Given the description of an element on the screen output the (x, y) to click on. 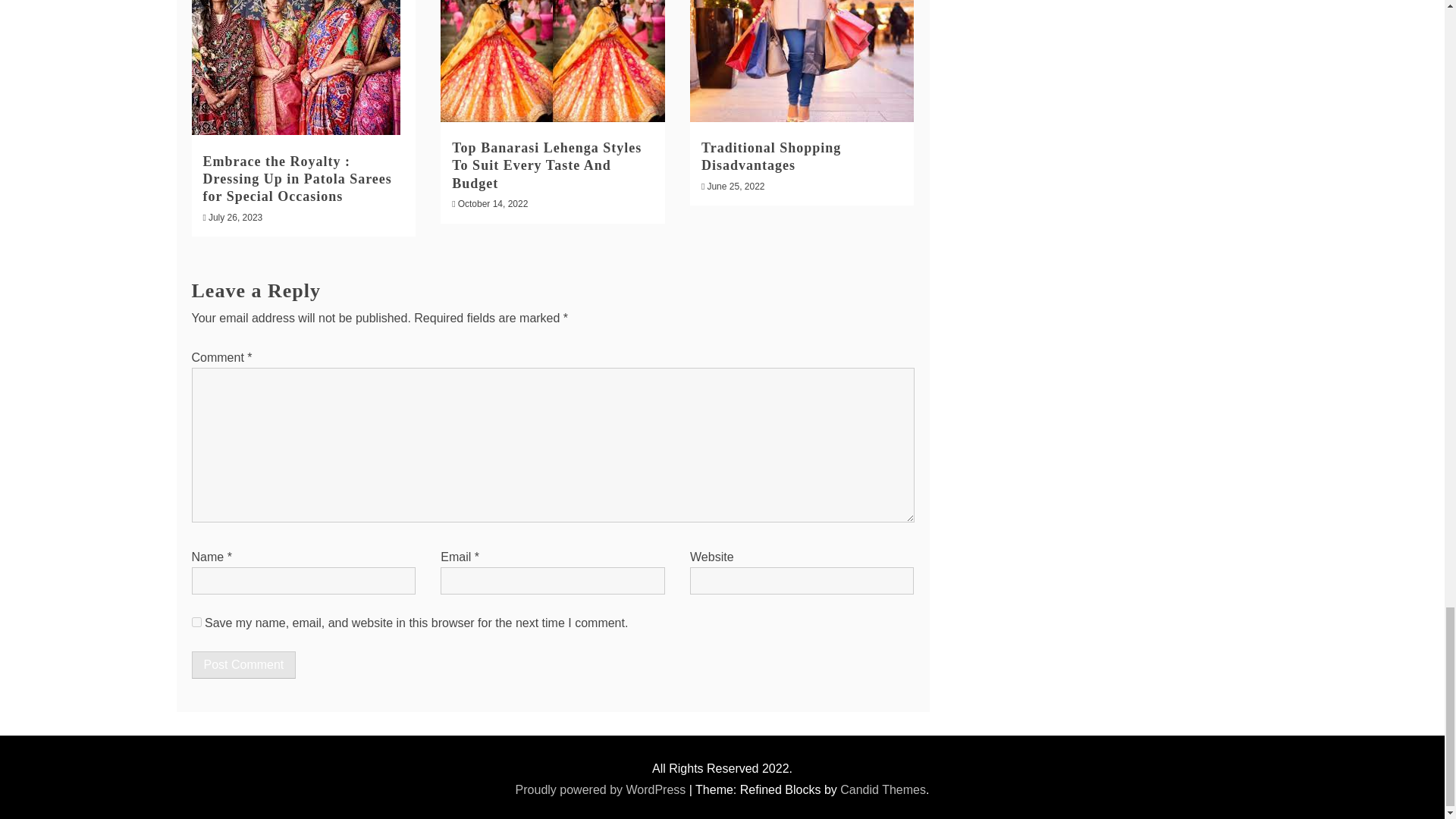
Post Comment (242, 664)
yes (195, 622)
